Given the description of an element on the screen output the (x, y) to click on. 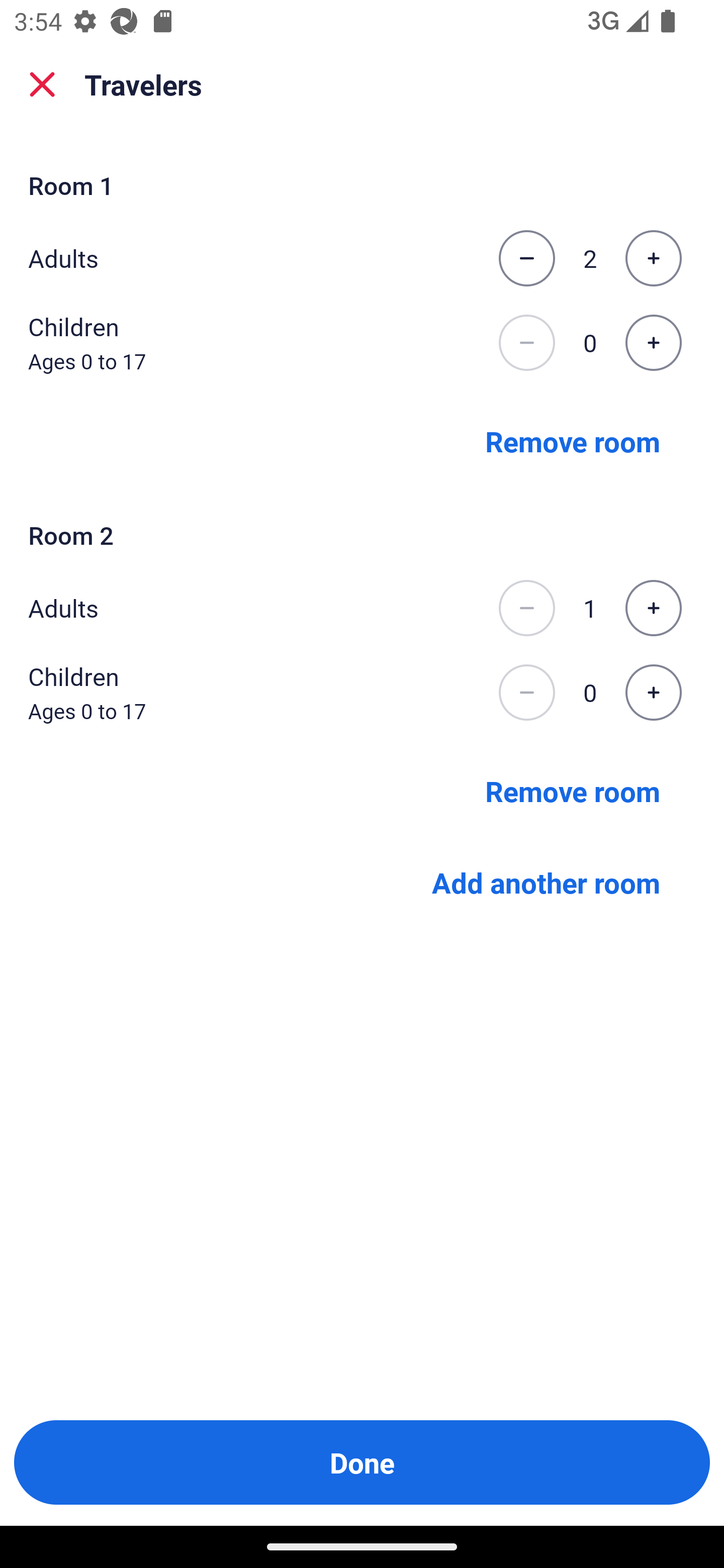
close (42, 84)
Decrease the number of adults (526, 258)
Increase the number of adults (653, 258)
Decrease the number of children (526, 343)
Increase the number of children (653, 343)
Remove room (572, 440)
Decrease the number of adults (526, 608)
Increase the number of adults (653, 608)
Decrease the number of children (526, 692)
Increase the number of children (653, 692)
Remove room (572, 790)
Add another room (545, 882)
Done (361, 1462)
